Given the description of an element on the screen output the (x, y) to click on. 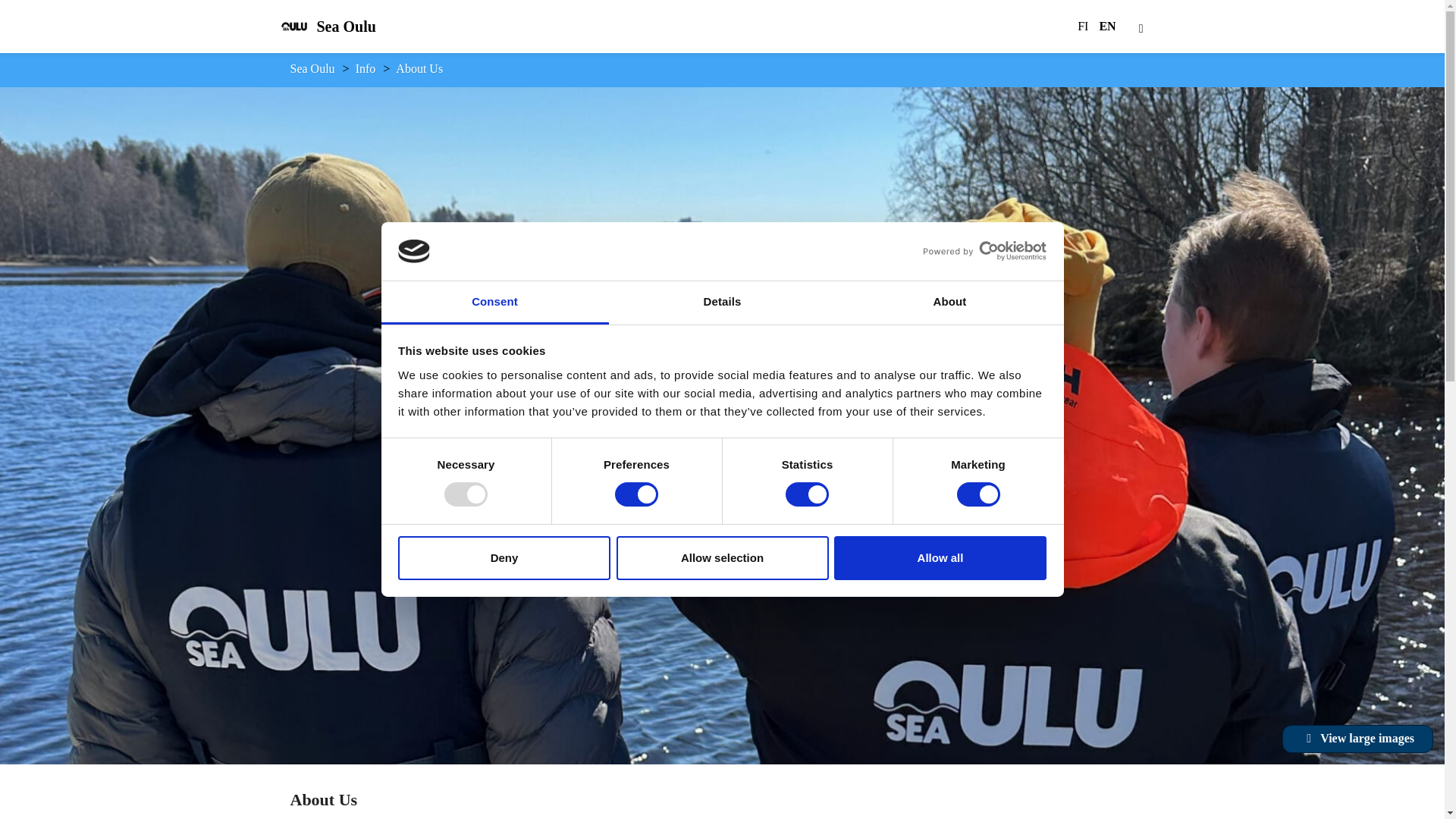
Deny (503, 557)
Allow selection (721, 557)
Allow all (940, 557)
Consent (494, 302)
About (948, 302)
Details (721, 302)
